Given the description of an element on the screen output the (x, y) to click on. 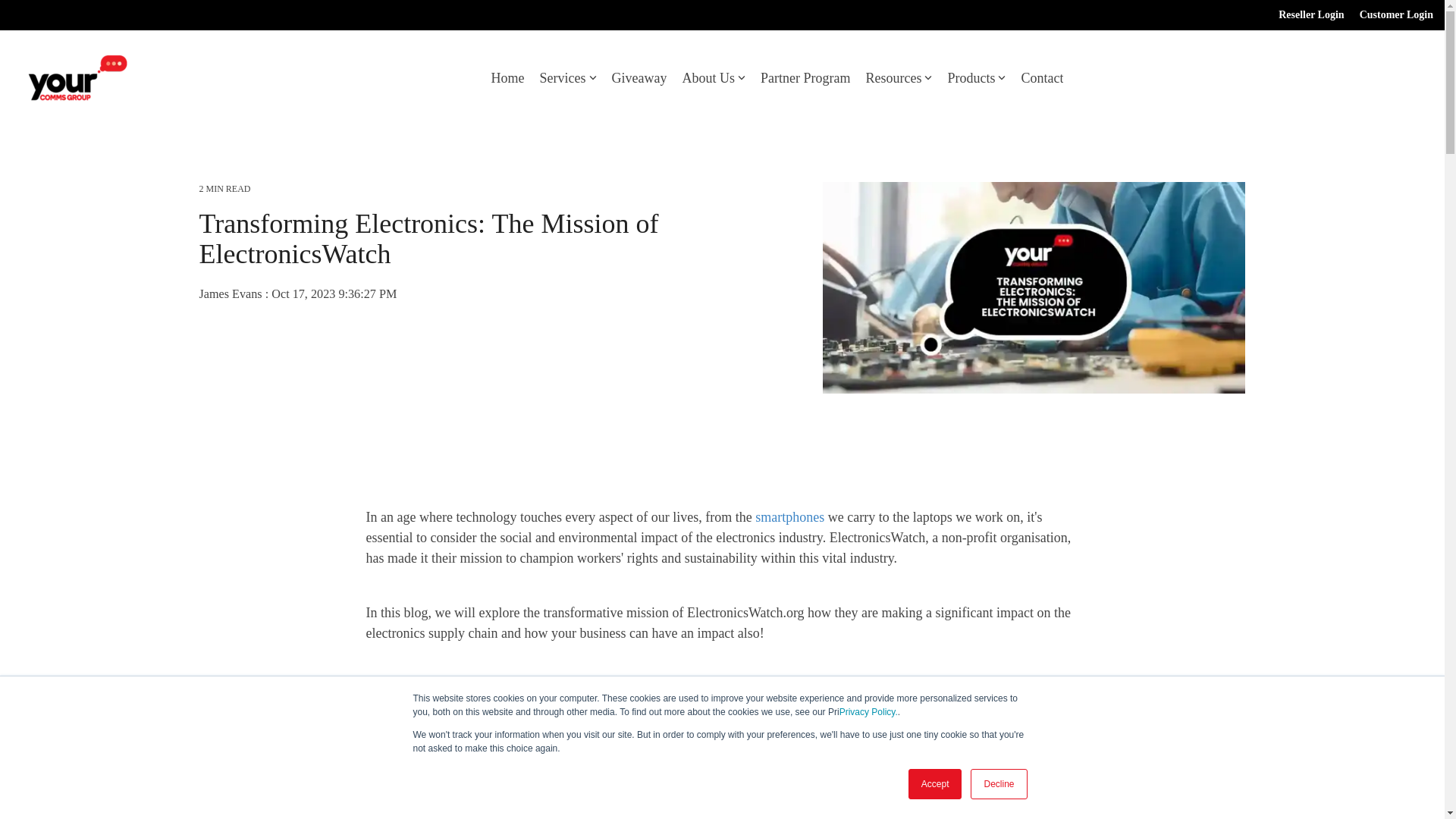
logo-YCG (77, 77)
Partner Program (805, 77)
Services (568, 77)
Giveaway (638, 77)
Products (976, 77)
Resources (897, 77)
Customer Login (1387, 14)
Reseller Login (1303, 14)
Privacy Policy. (869, 711)
